Given the description of an element on the screen output the (x, y) to click on. 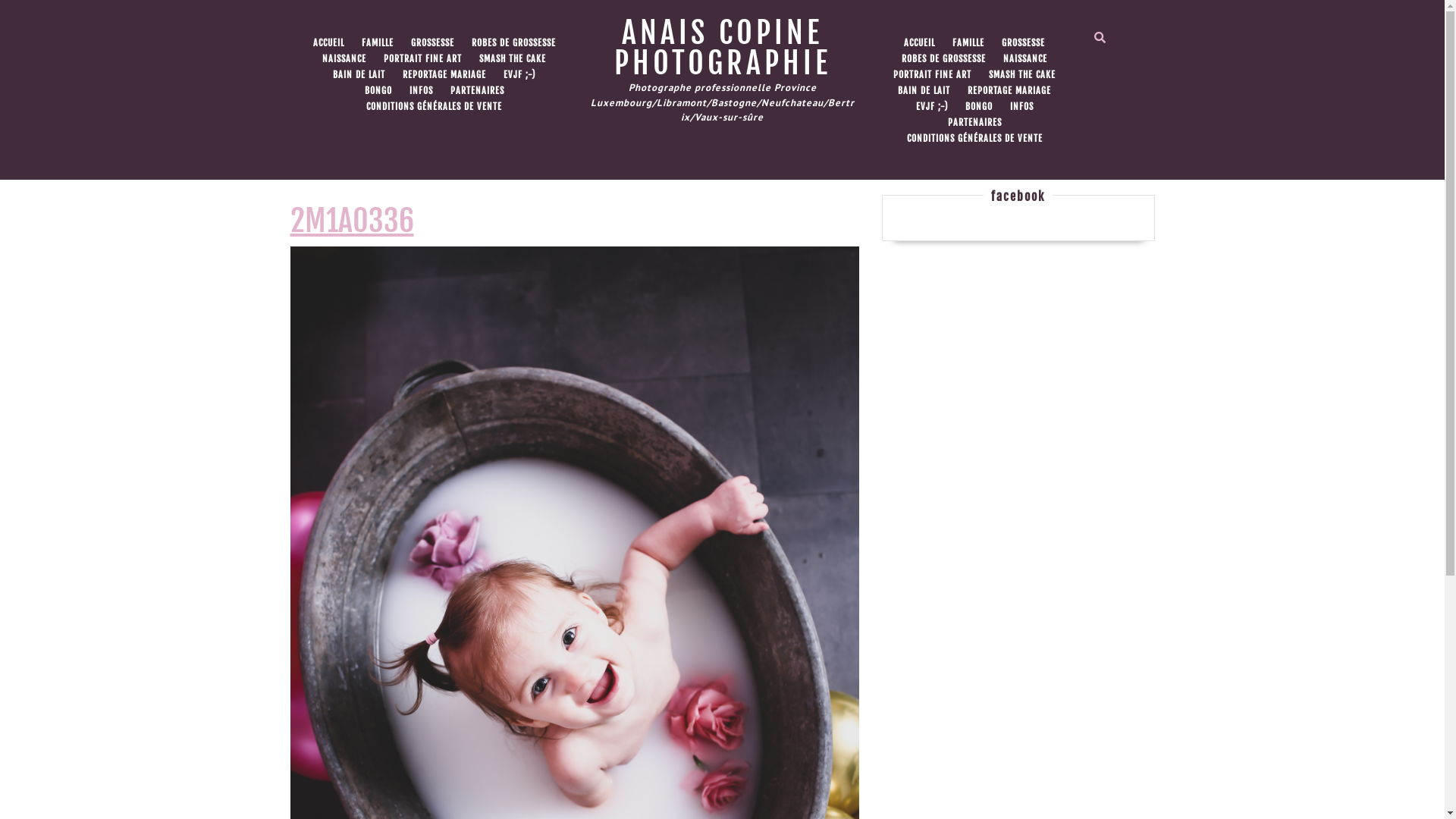
2M1A0336
2M1A0336 Element type: text (351, 220)
INFOS Element type: text (420, 90)
INFOS Element type: text (1021, 106)
BAIN DE LAIT Element type: text (923, 90)
EVJF ;-) Element type: text (931, 106)
PARTENAIRES Element type: text (476, 90)
SMASH THE CAKE Element type: text (1022, 74)
GROSSESSE Element type: text (1023, 43)
ACCUEIL Element type: text (919, 43)
REPORTAGE MARIAGE Element type: text (1009, 90)
ROBES DE GROSSESSE Element type: text (943, 58)
EVJF ;-) Element type: text (518, 74)
ANAIS COPINE PHOTOGRAPHIE Element type: text (722, 47)
PORTRAIT FINE ART Element type: text (422, 58)
FAMILLE Element type: text (967, 43)
GROSSESSE Element type: text (432, 43)
BAIN DE LAIT Element type: text (358, 74)
ROBES DE GROSSESSE Element type: text (513, 43)
BONGO Element type: text (377, 90)
SMASH THE CAKE Element type: text (512, 58)
REPORTAGE MARIAGE Element type: text (444, 74)
PARTENAIRES Element type: text (974, 122)
ACCUEIL Element type: text (327, 43)
NAISSANCE Element type: text (1024, 58)
BONGO Element type: text (978, 106)
PORTRAIT FINE ART Element type: text (932, 74)
FAMILLE Element type: text (376, 43)
NAISSANCE Element type: text (343, 58)
